Given the description of an element on the screen output the (x, y) to click on. 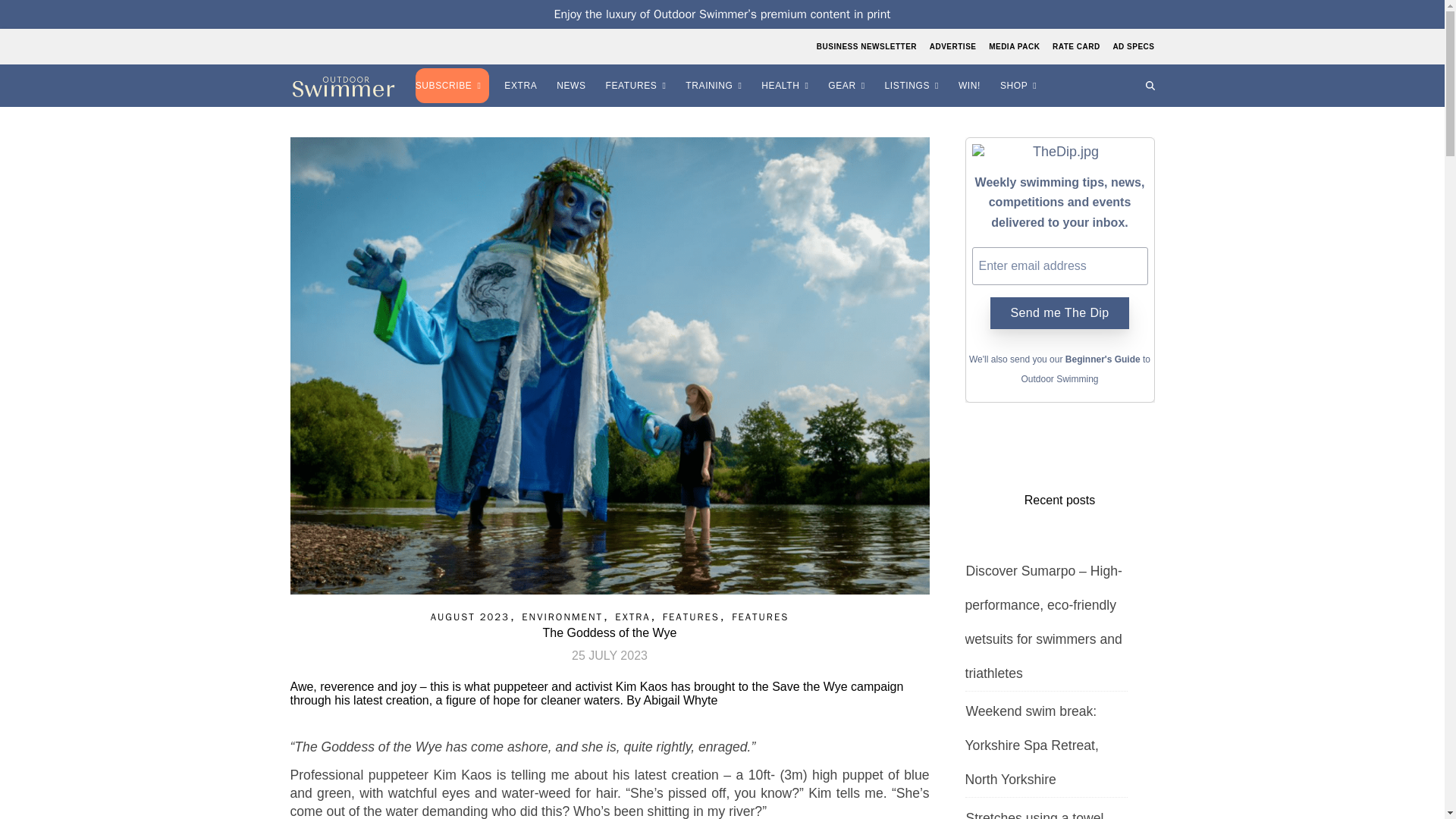
EXTRA (522, 85)
NEWS (572, 85)
BUSINESS NEWSLETTER (868, 46)
ADVERTISE (952, 46)
RATE CARD (1075, 46)
SUBSCRIBE (453, 85)
FEATURES (638, 85)
AD SPECS (1131, 46)
MEDIA PACK (1014, 46)
Send me The Dip (1059, 313)
